Given the description of an element on the screen output the (x, y) to click on. 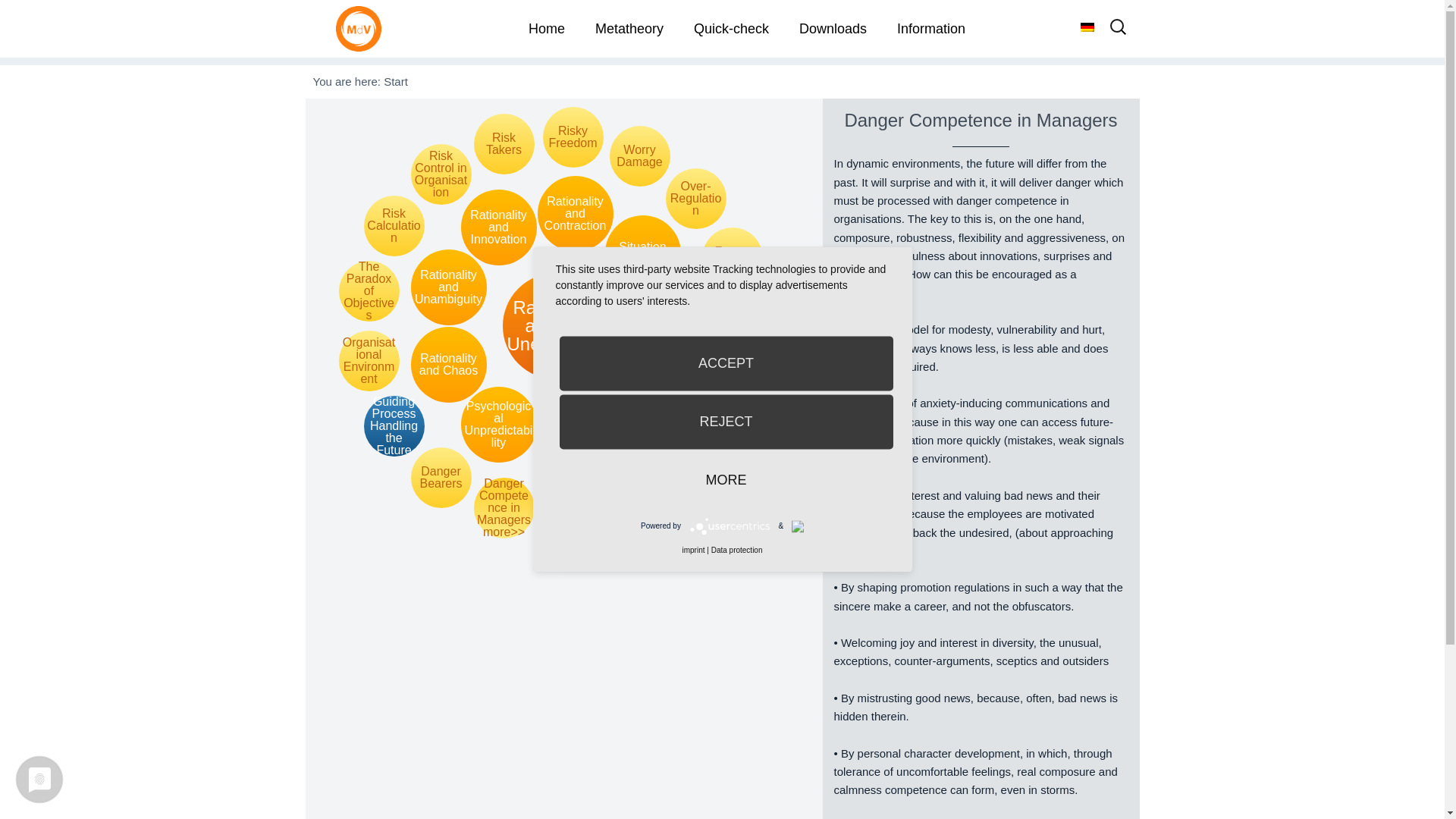
Psychological Unpredictability (499, 424)
Search for: (1118, 31)
The Unexpected (668, 325)
Risk Control in Organisation (440, 174)
Changeability (695, 453)
Quick-check (731, 28)
Rationality and Chaos (448, 364)
Rationality and Innovation (499, 227)
Problems of Rationality (574, 437)
The Risks of Planning (573, 514)
